Given the description of an element on the screen output the (x, y) to click on. 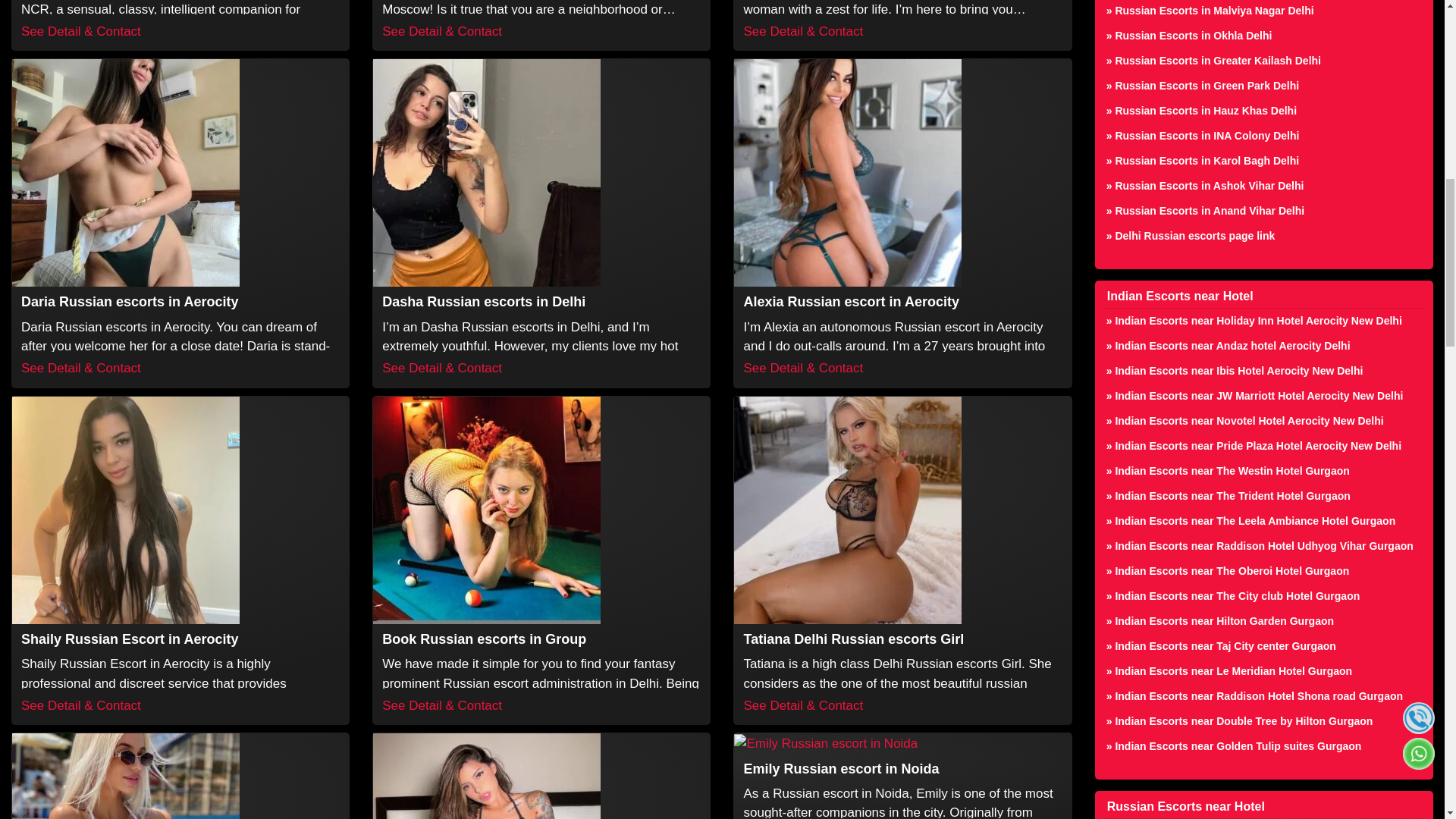
Dasha Russian escorts in Delhi (483, 301)
Shaily Russian Escort in Aerocity (129, 639)
Alexia Russian escort in Aerocity (850, 301)
Daria Russian escorts in Aerocity (129, 301)
